Given the description of an element on the screen output the (x, y) to click on. 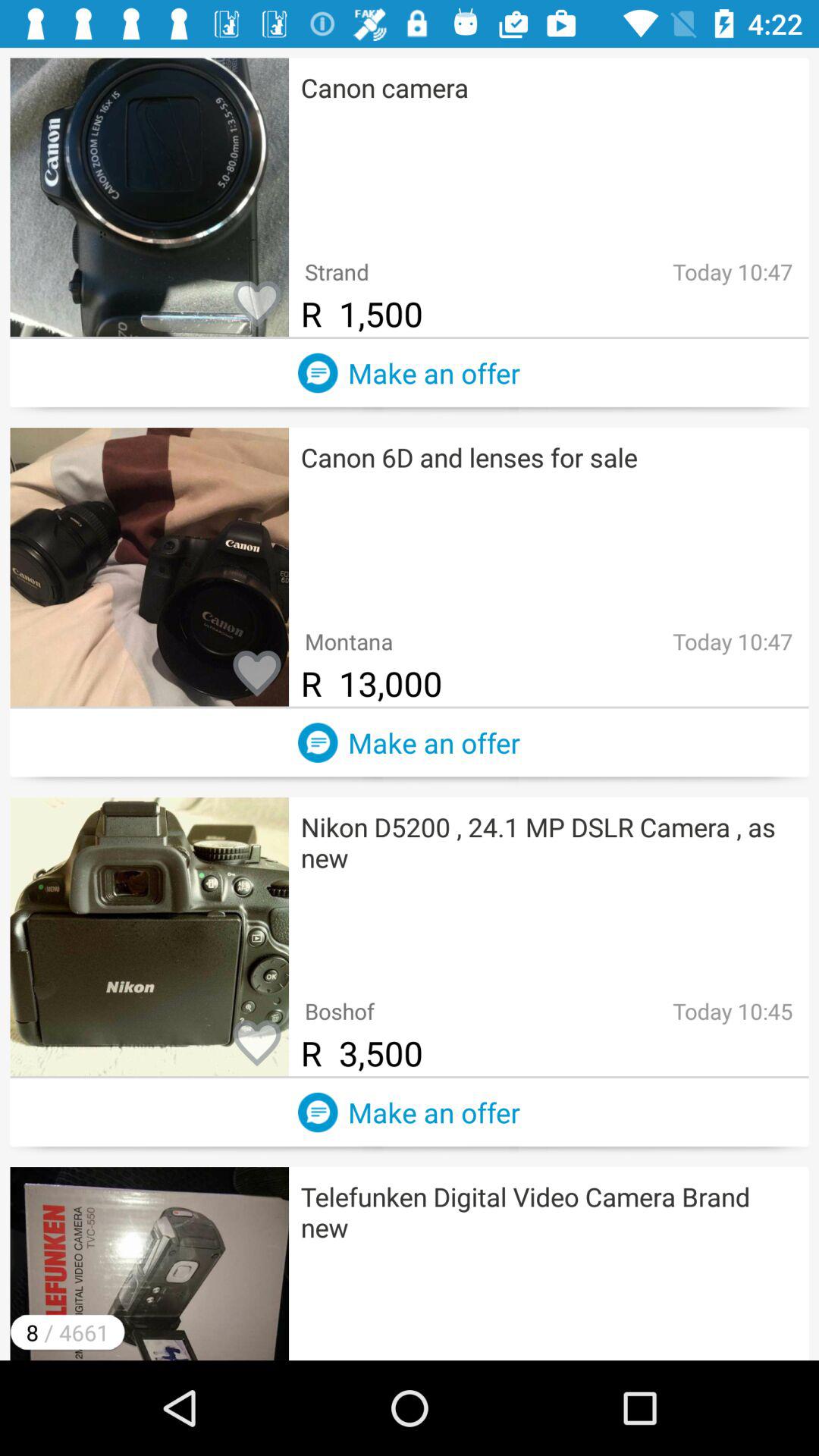
add a comment (317, 373)
